Given the description of an element on the screen output the (x, y) to click on. 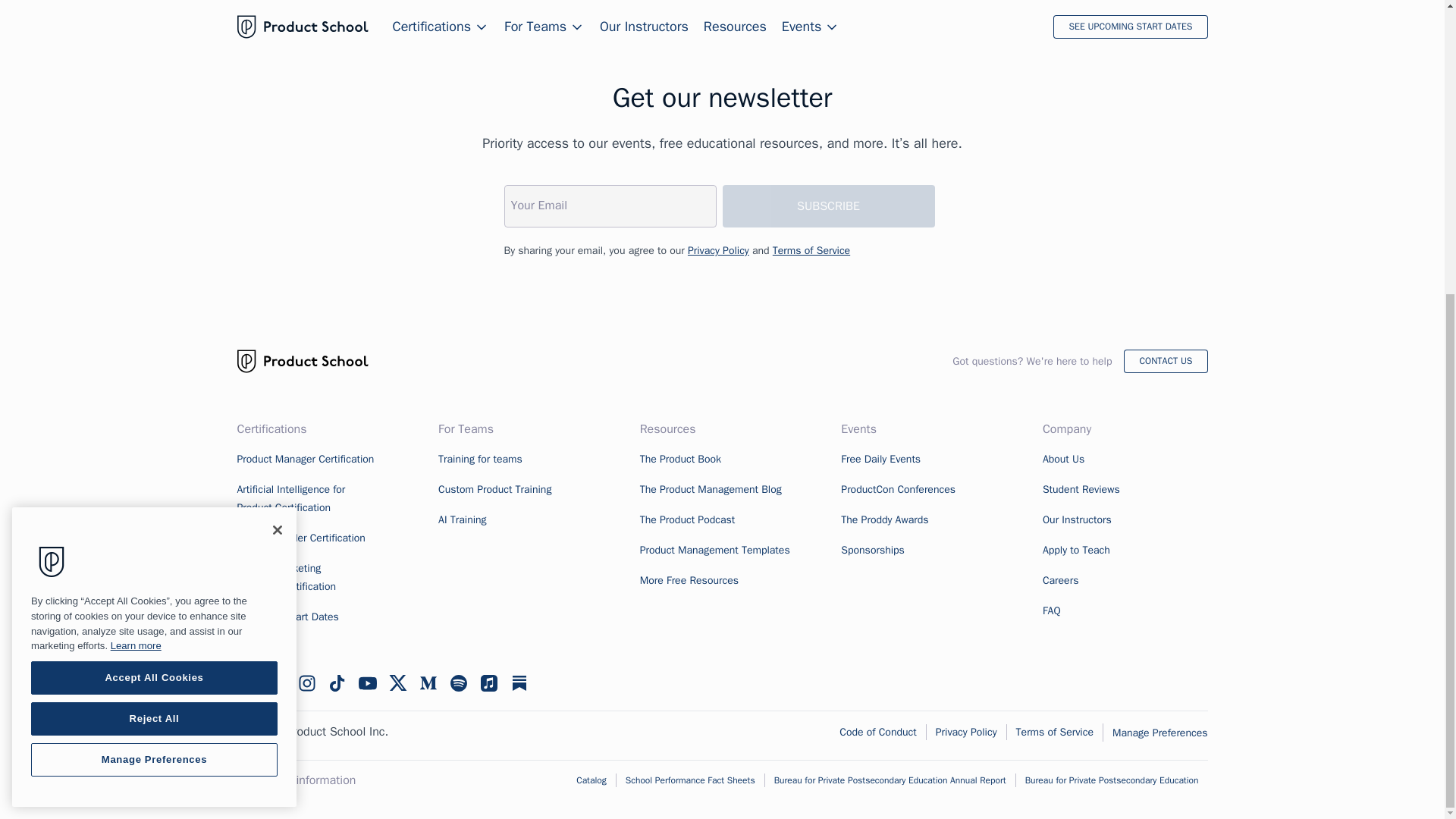
Spotify Product School's Podcast (457, 683)
Product School's Instagram page (306, 683)
Careers (1060, 580)
AI Training (462, 519)
Custom Product Training (494, 489)
CONTACT US (1165, 361)
Privacy Policy (718, 250)
About Us (1063, 459)
Sponsorships (872, 549)
Our Instructors (1077, 519)
Terms of Service (811, 250)
Terms of Service (811, 250)
The Product Management Blog (710, 489)
Product Manager Certification (304, 459)
Artificial Intelligence for Product Certification (290, 498)
